Given the description of an element on the screen output the (x, y) to click on. 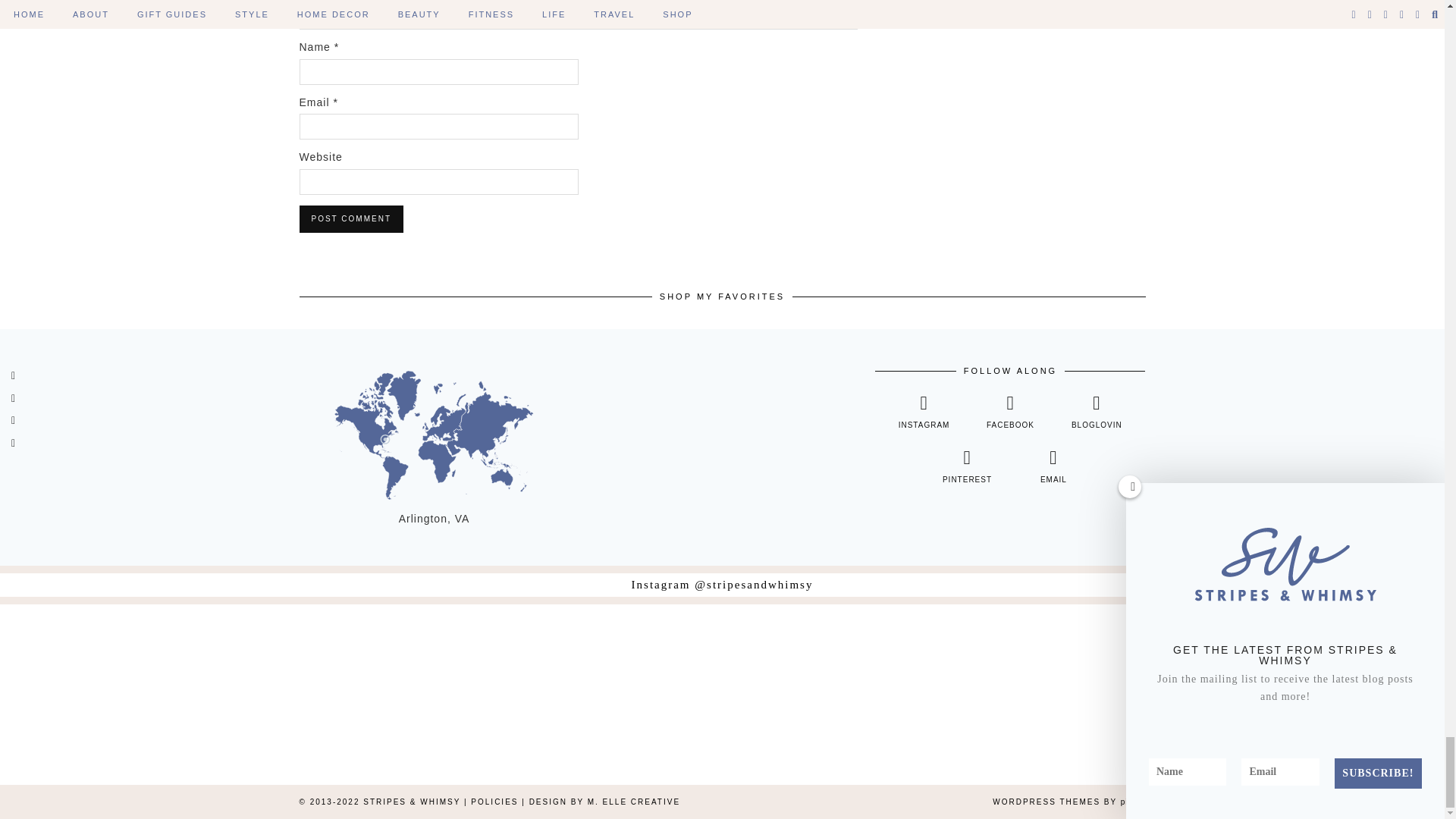
Post Comment (350, 218)
